Given the description of an element on the screen output the (x, y) to click on. 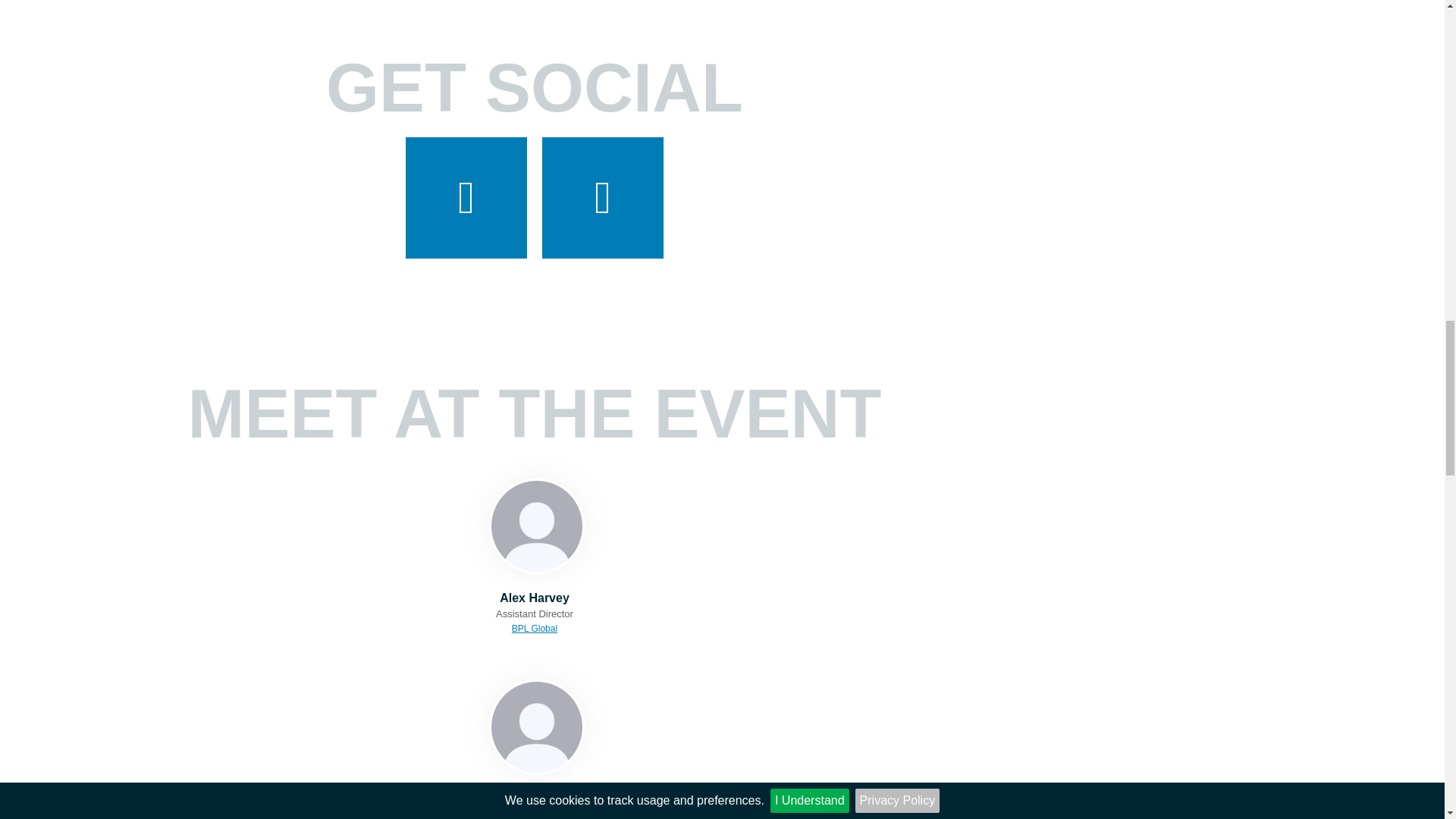
BPL Global (534, 628)
